Given the description of an element on the screen output the (x, y) to click on. 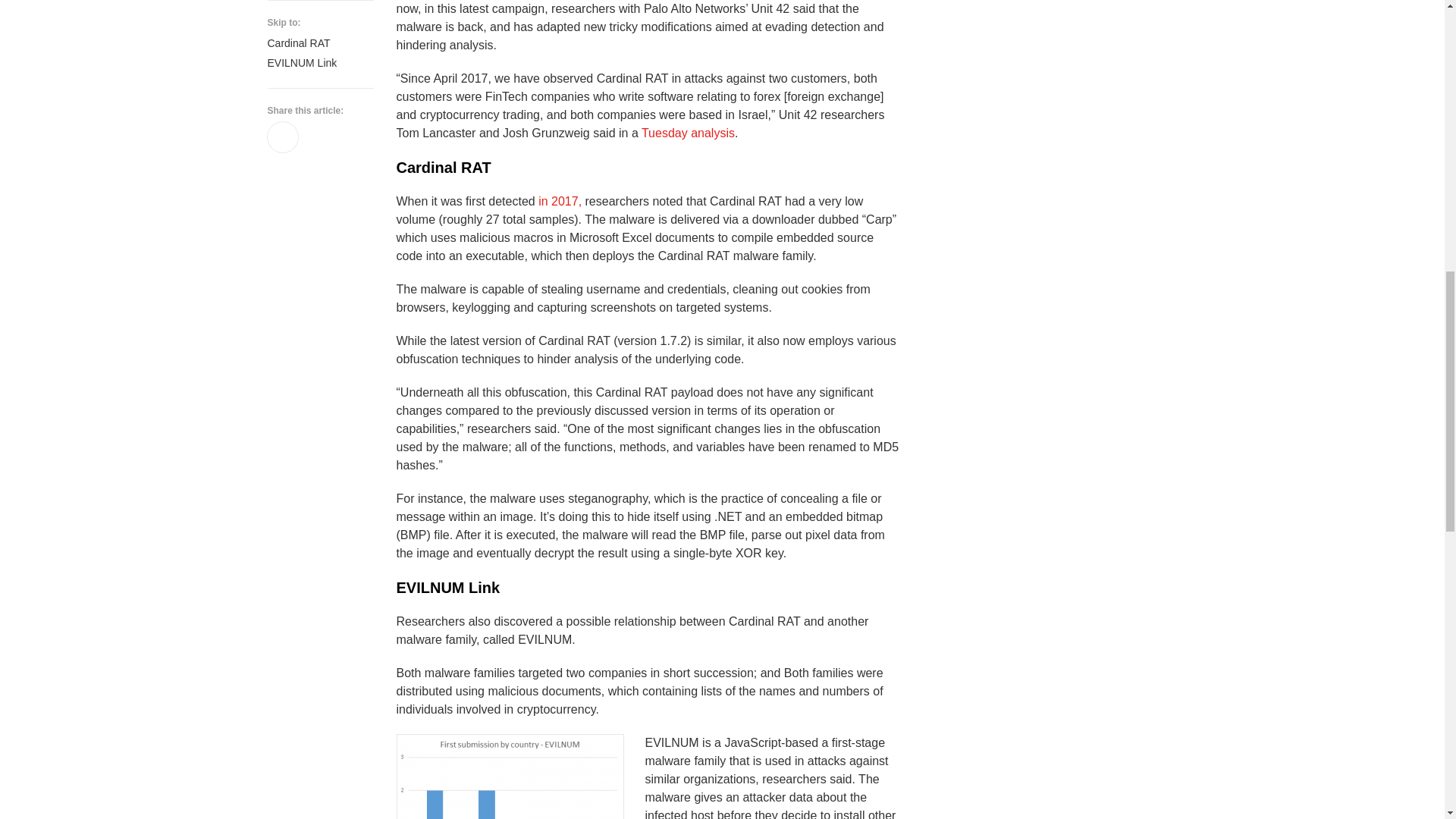
Cardinal RAT (319, 43)
in 2017, (559, 200)
Tuesday analysis (688, 132)
EVILNUM Link (647, 587)
EVILNUM Link (319, 62)
Cardinal RAT (647, 167)
